Given the description of an element on the screen output the (x, y) to click on. 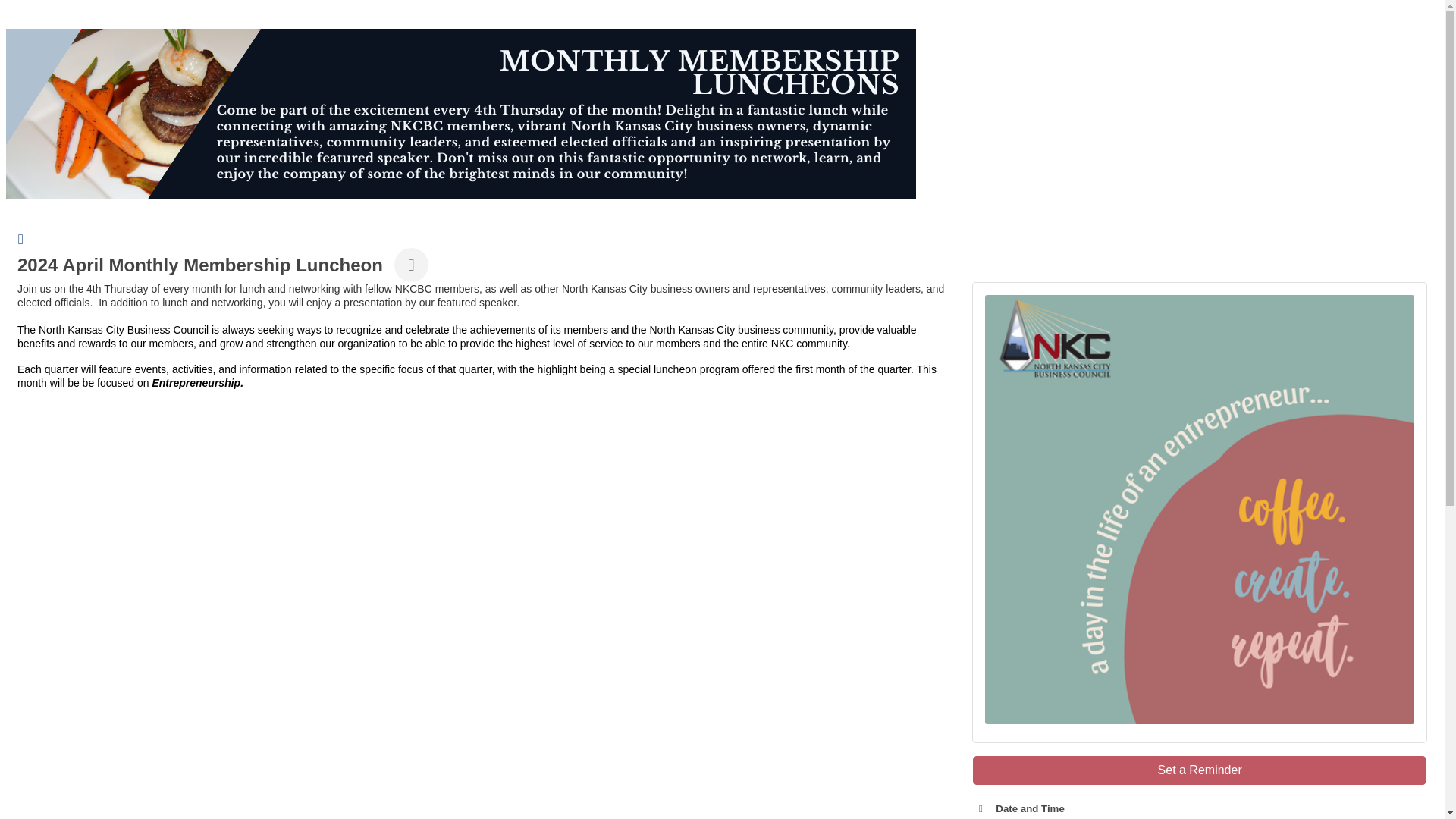
Set a Reminder (1199, 769)
